Given the description of an element on the screen output the (x, y) to click on. 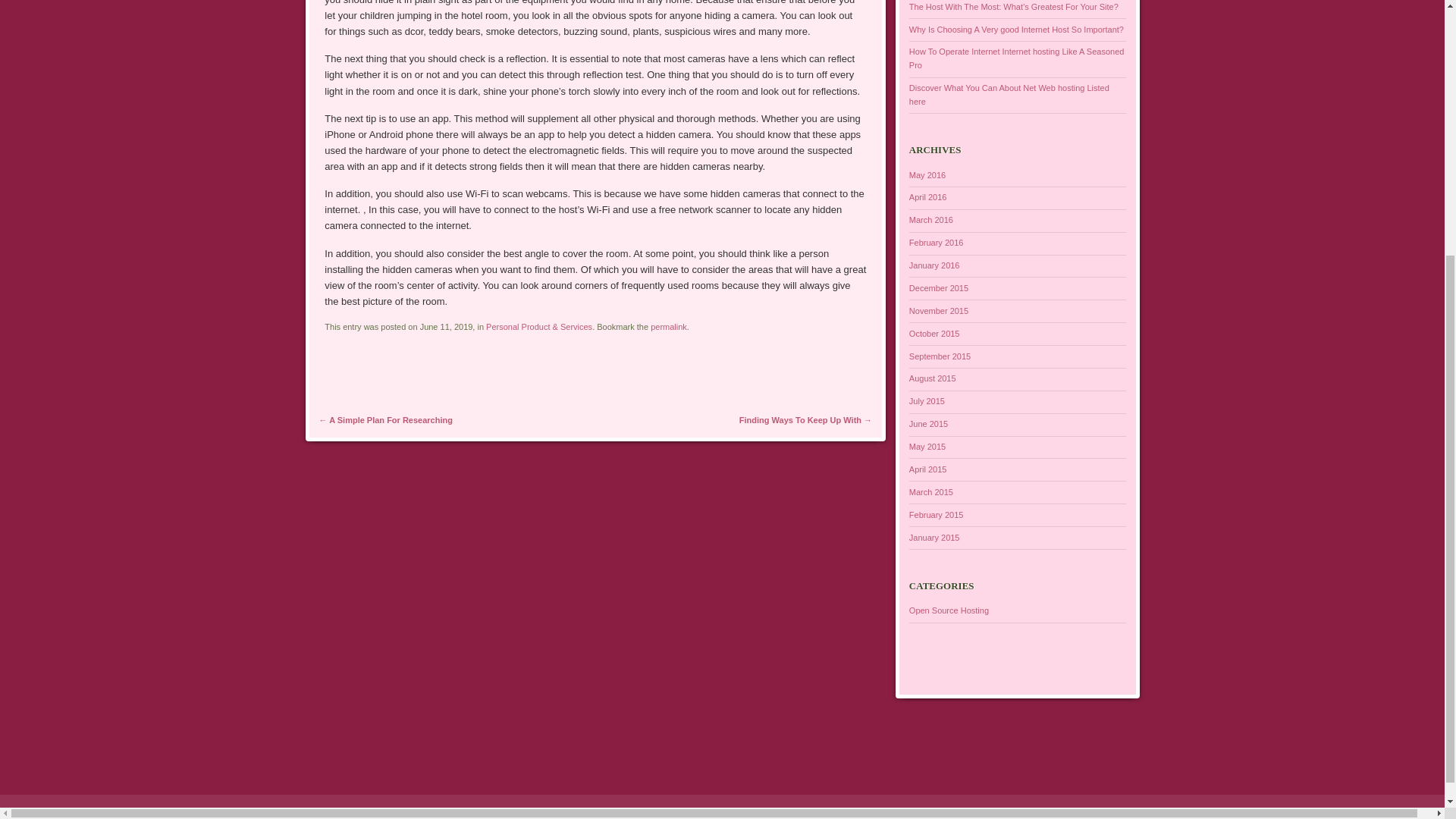
March 2015 (930, 491)
Why Is Choosing A Very good Internet Host So Important? (1016, 29)
December 2015 (938, 287)
Discover What You Can About Net Web hosting Listed here (1008, 94)
April 2015 (927, 469)
February 2016 (935, 242)
Permalink to What Has Changed Recently With ? (668, 326)
permalink (668, 326)
January 2016 (933, 265)
March 2016 (930, 219)
May 2016 (926, 174)
How To Operate Internet Internet hosting Like A Seasoned Pro (1016, 57)
April 2016 (927, 196)
September 2015 (939, 356)
May 2015 (926, 446)
